Given the description of an element on the screen output the (x, y) to click on. 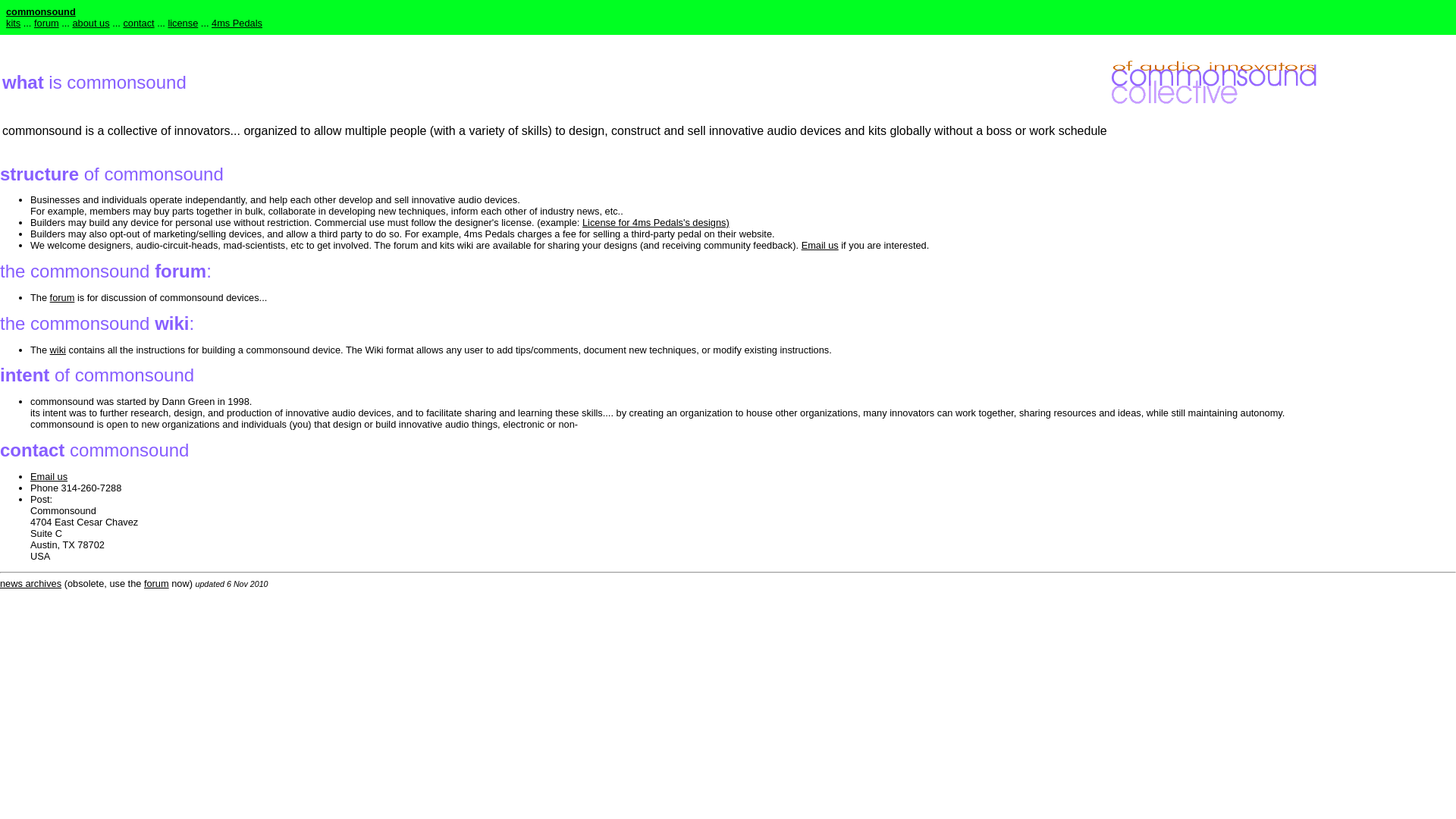
about us (90, 22)
contact (138, 22)
4ms Pedals (236, 22)
forum (46, 22)
news archives (30, 583)
wiki (57, 349)
license (182, 22)
forum (62, 297)
Email us (820, 244)
commonsound (40, 11)
forum (156, 583)
kits (12, 22)
Email us (48, 476)
